Given the description of an element on the screen output the (x, y) to click on. 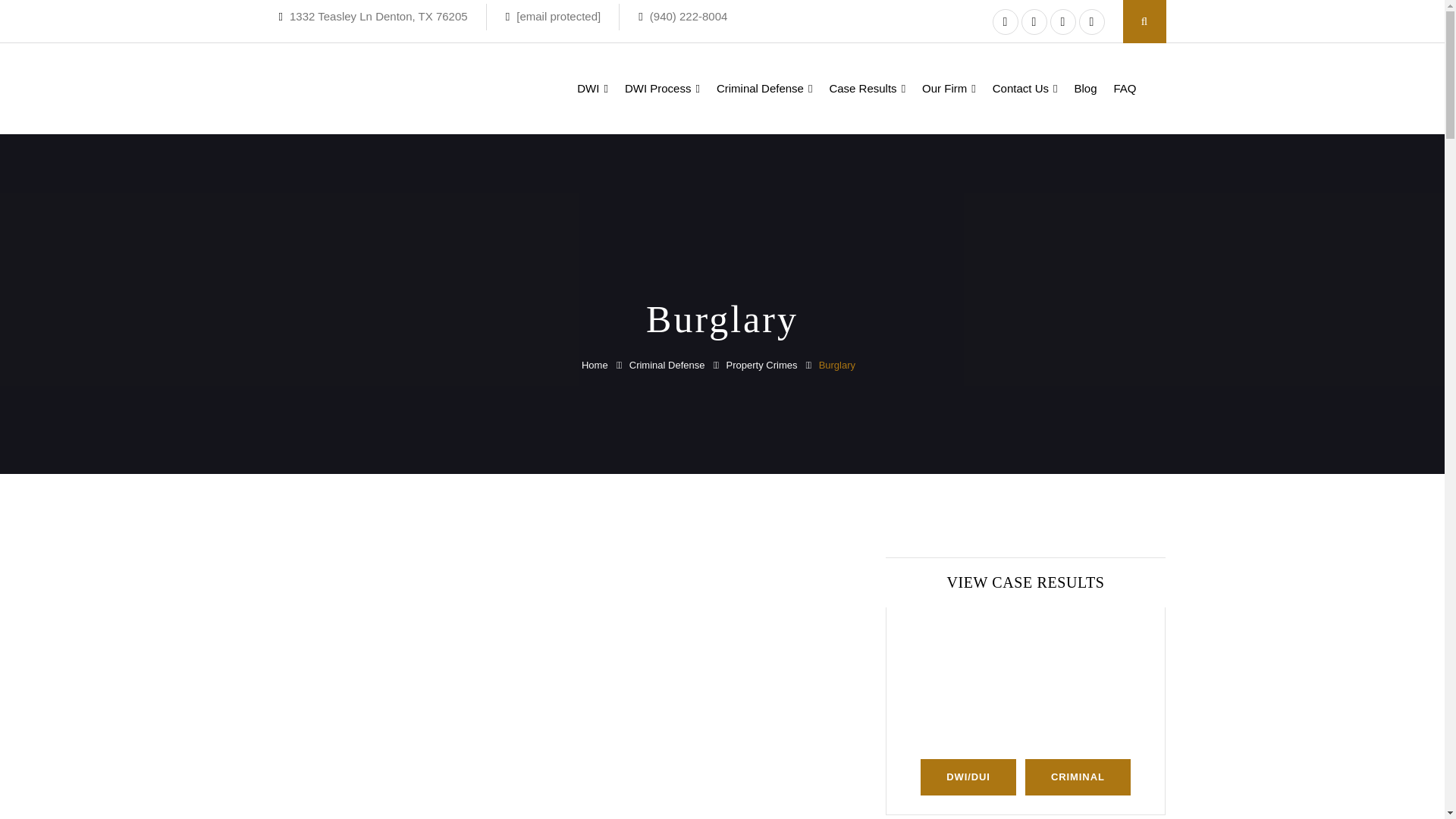
Instagram (1090, 22)
Twitter (1033, 22)
DWI (592, 88)
Skype (1062, 22)
DWI Process (661, 88)
Facebook (1004, 22)
